Given the description of an element on the screen output the (x, y) to click on. 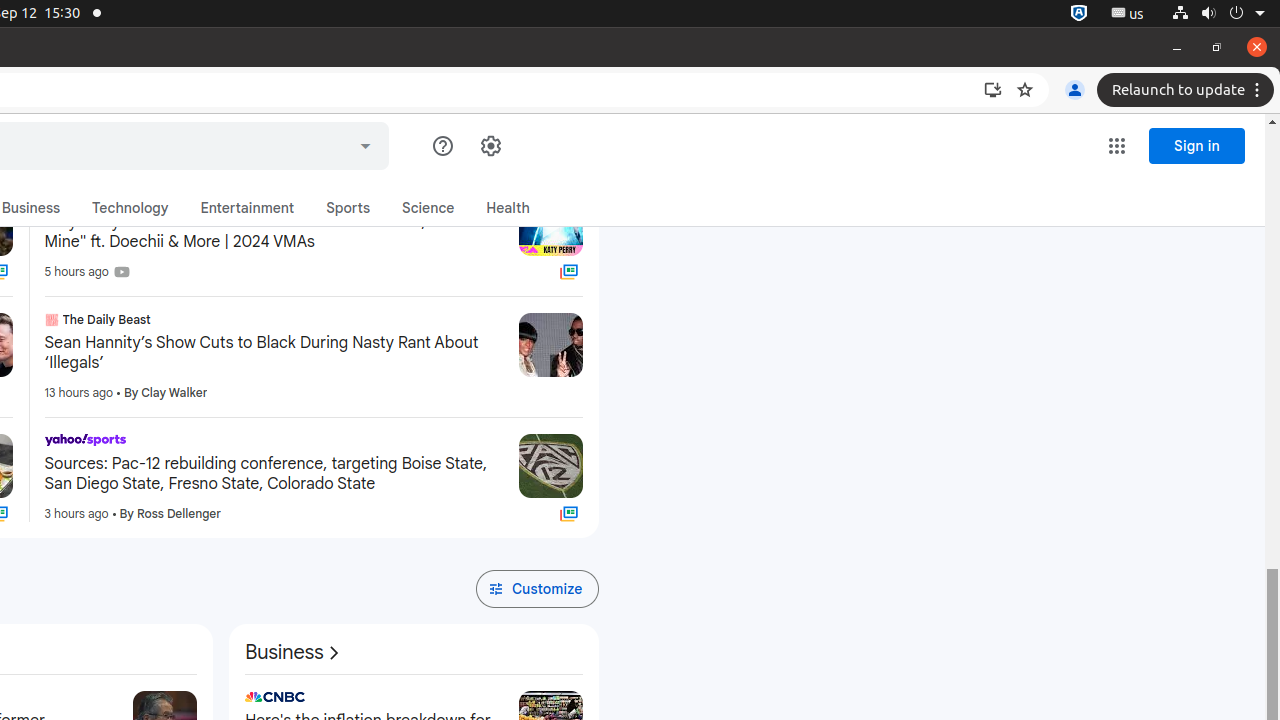
Sports Element type: menu-item (348, 208)
Install Google News Element type: push-button (993, 90)
Health Element type: menu-item (508, 208)
Business Element type: link (294, 653)
Bookmark this tab Element type: push-button (1025, 90)
